Given the description of an element on the screen output the (x, y) to click on. 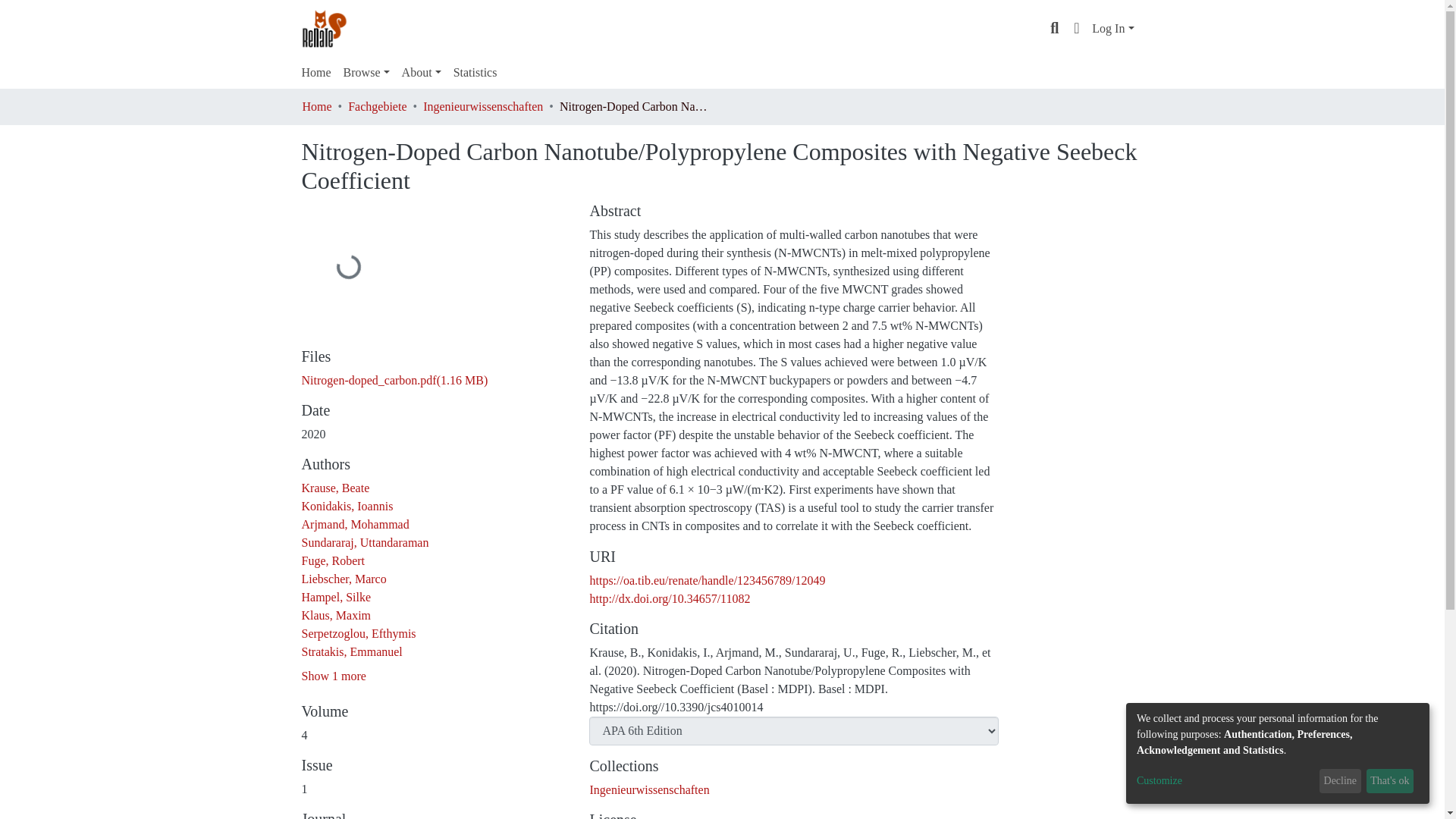
Ingenieurwissenschaften (649, 789)
Fuge, Robert (333, 560)
Customize (1225, 780)
Language switch (1076, 28)
Decline (1340, 781)
Konidakis, Ioannis (347, 505)
Statistics (474, 72)
Stratakis, Emmanuel (352, 651)
Browse (366, 72)
Statistics (474, 72)
